Given the description of an element on the screen output the (x, y) to click on. 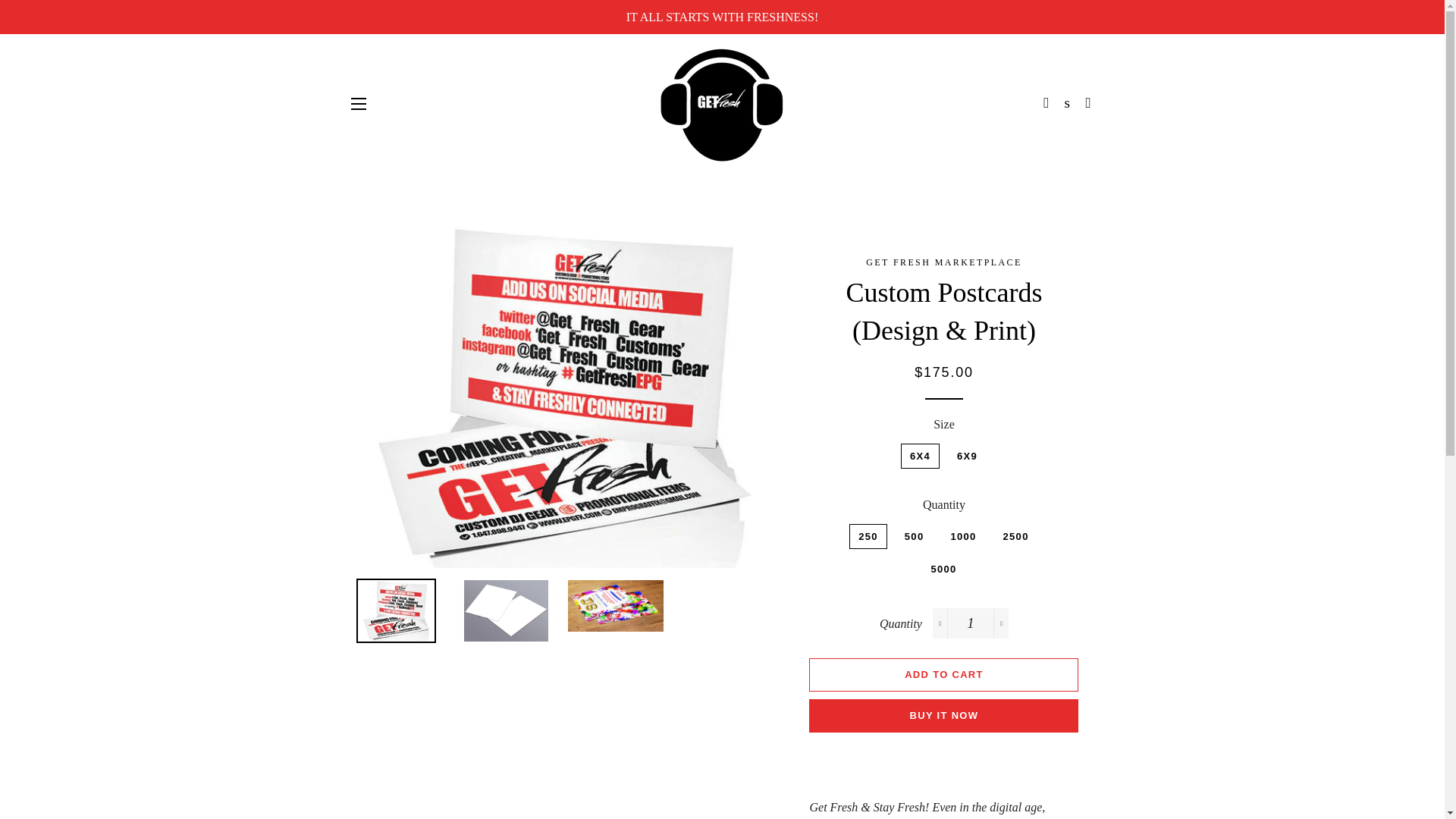
SITE NAVIGATION (358, 103)
ADD TO CART (943, 674)
1 (971, 623)
BUY IT NOW (943, 715)
